Given the description of an element on the screen output the (x, y) to click on. 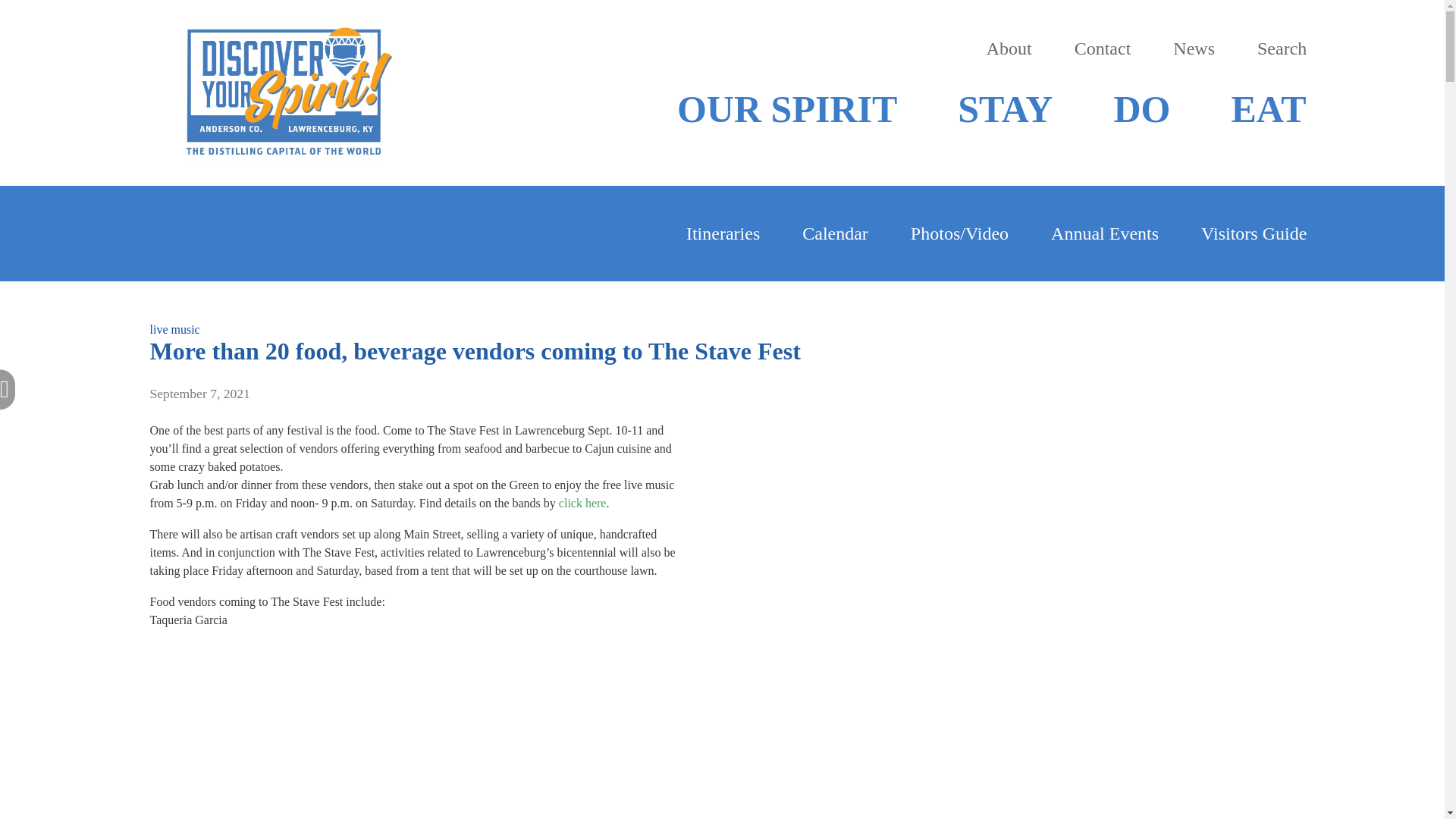
Itineraries (722, 233)
live music (174, 329)
Contact (1102, 48)
Search (1281, 48)
Annual Events (1104, 233)
Visitors Guide (1253, 233)
About (1009, 48)
EAT (1268, 109)
OUR SPIRIT (786, 109)
click here (583, 502)
News (1193, 48)
STAY (1005, 109)
DO (1141, 109)
Calendar (834, 233)
